Given the description of an element on the screen output the (x, y) to click on. 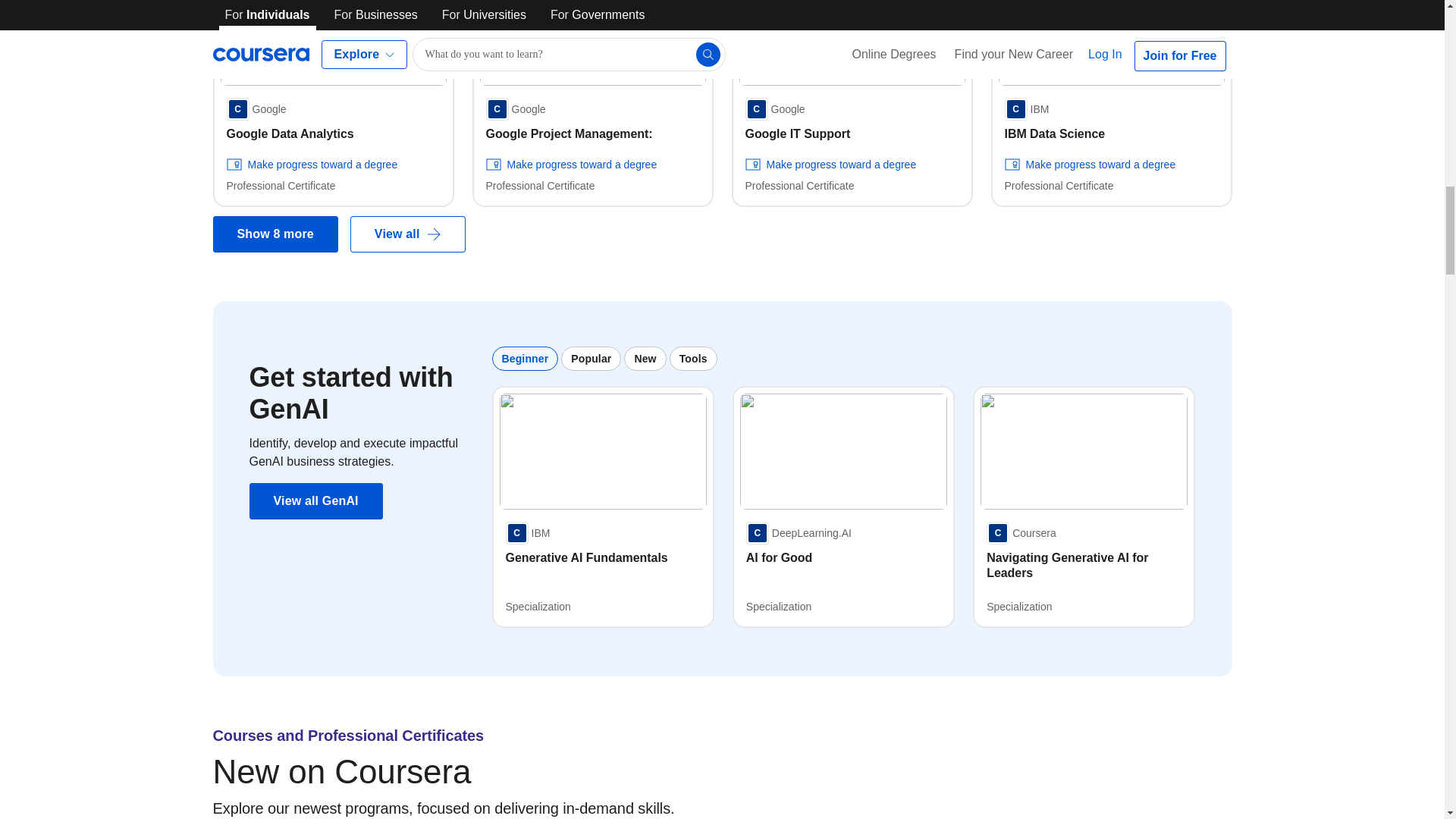
Google (774, 108)
Coursera  (1022, 532)
Google (255, 108)
IBM (527, 532)
DeepLearning.AI (798, 532)
IBM (1026, 108)
Google (514, 108)
